Given the description of an element on the screen output the (x, y) to click on. 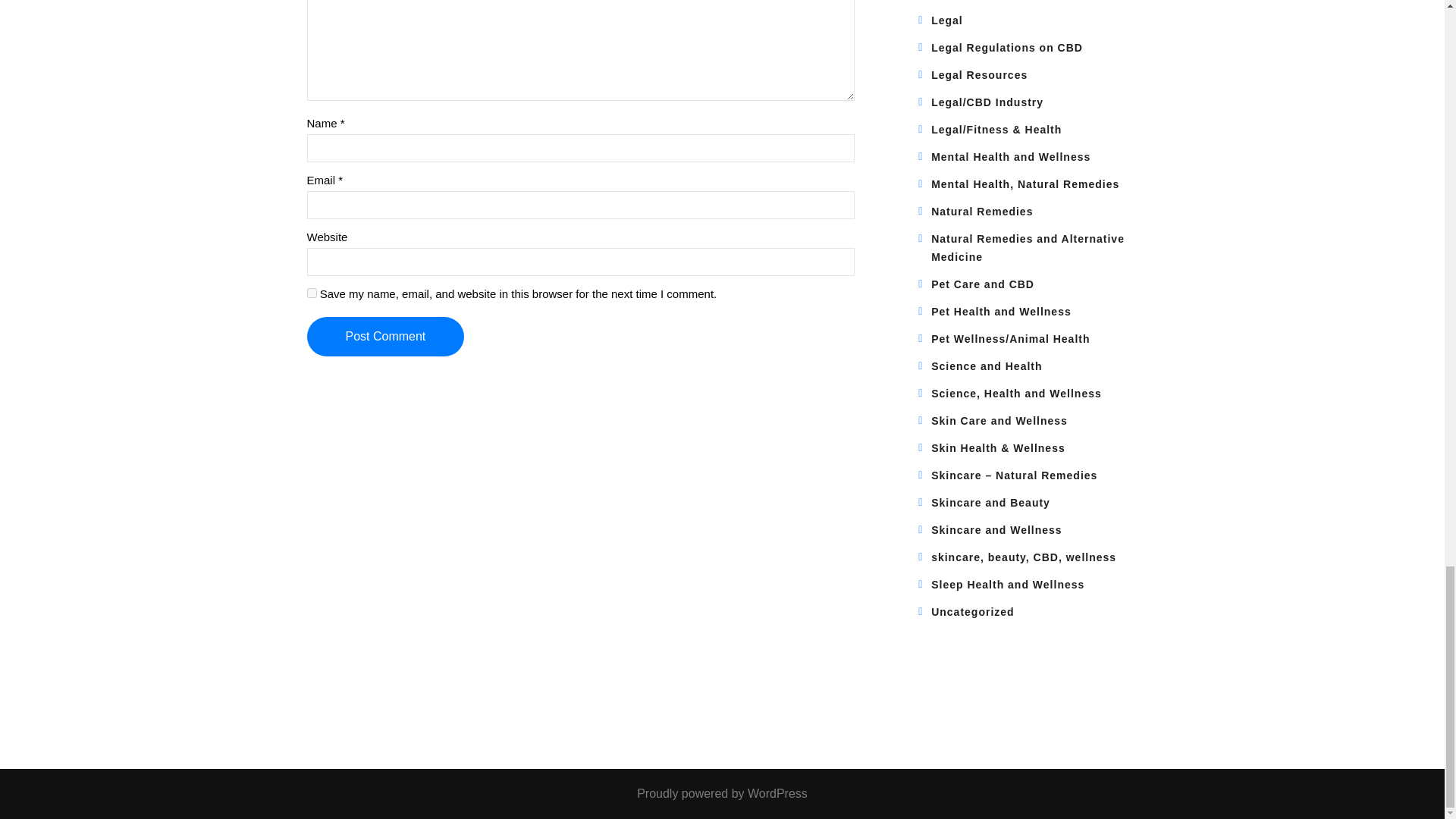
Post Comment (384, 336)
yes (310, 293)
Post Comment (384, 336)
